Given the description of an element on the screen output the (x, y) to click on. 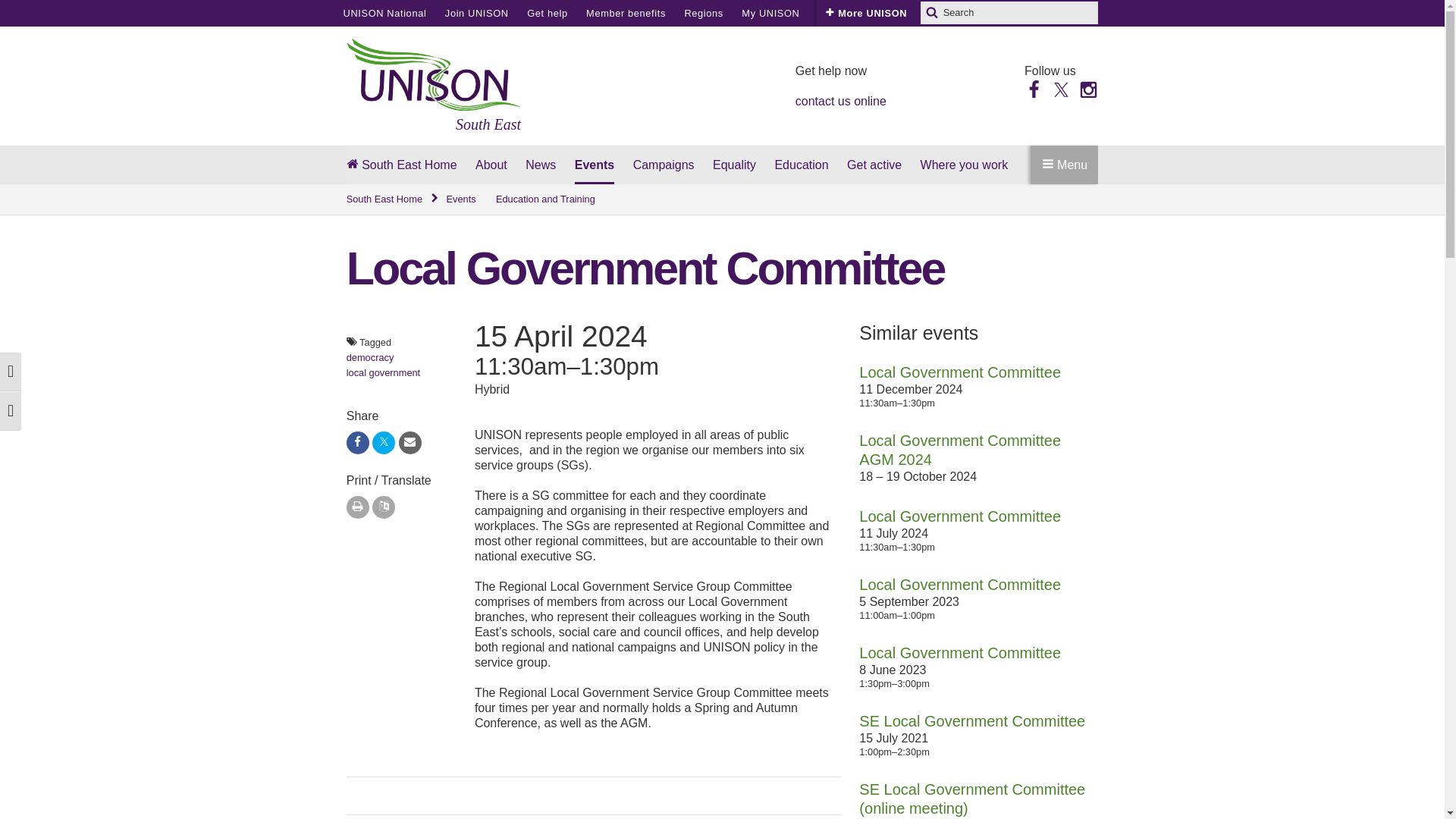
Education and Training (545, 199)
Regions (703, 13)
South East Home (392, 199)
Other sites (844, 13)
Facebook (1034, 88)
Events (460, 199)
contact us online (840, 101)
Join UNISON (476, 13)
Instagram (1087, 88)
